Given the description of an element on the screen output the (x, y) to click on. 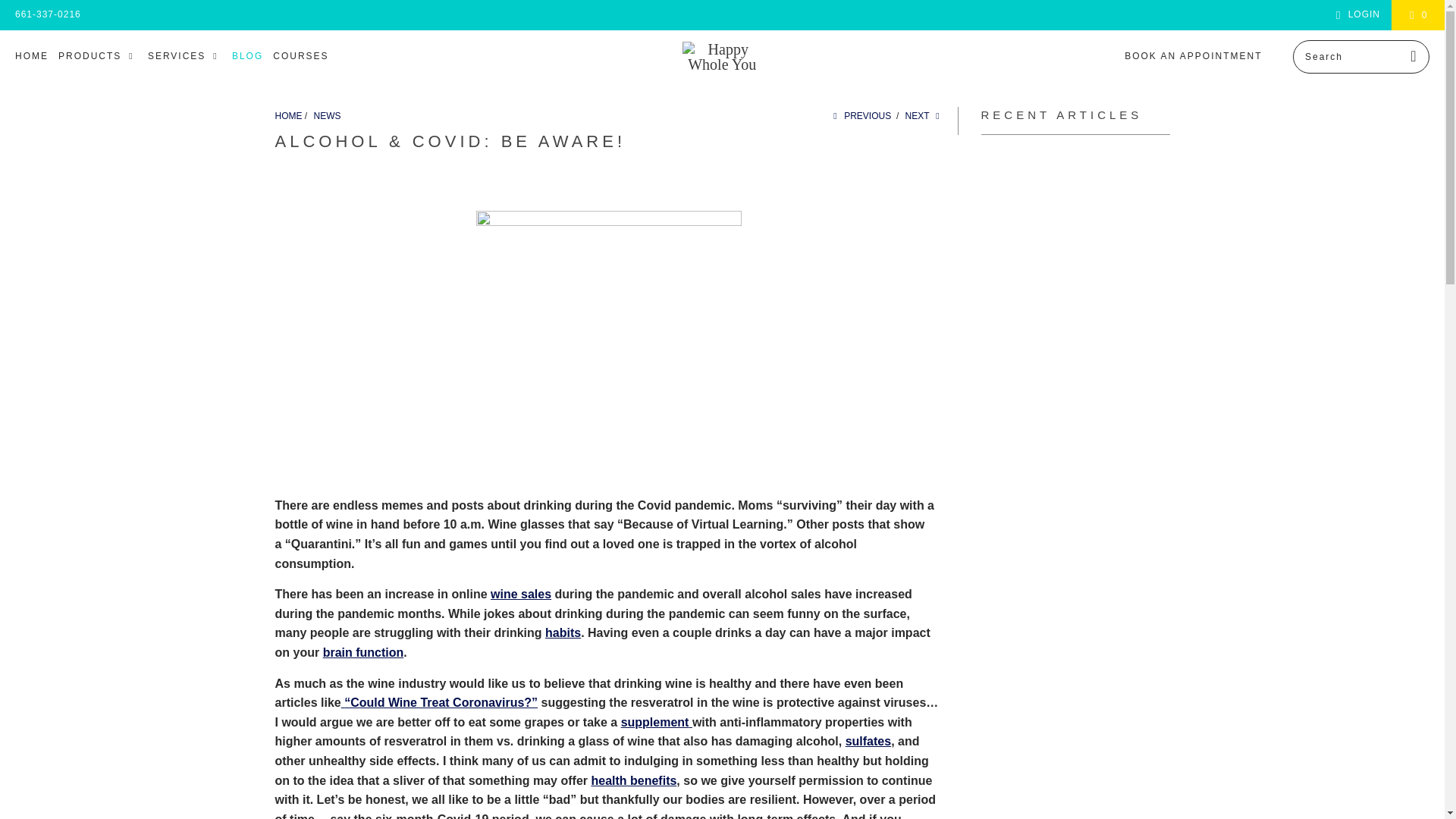
My Account  (1355, 14)
News (327, 115)
Happy Whole You (288, 115)
Happy Whole You (721, 56)
